Given the description of an element on the screen output the (x, y) to click on. 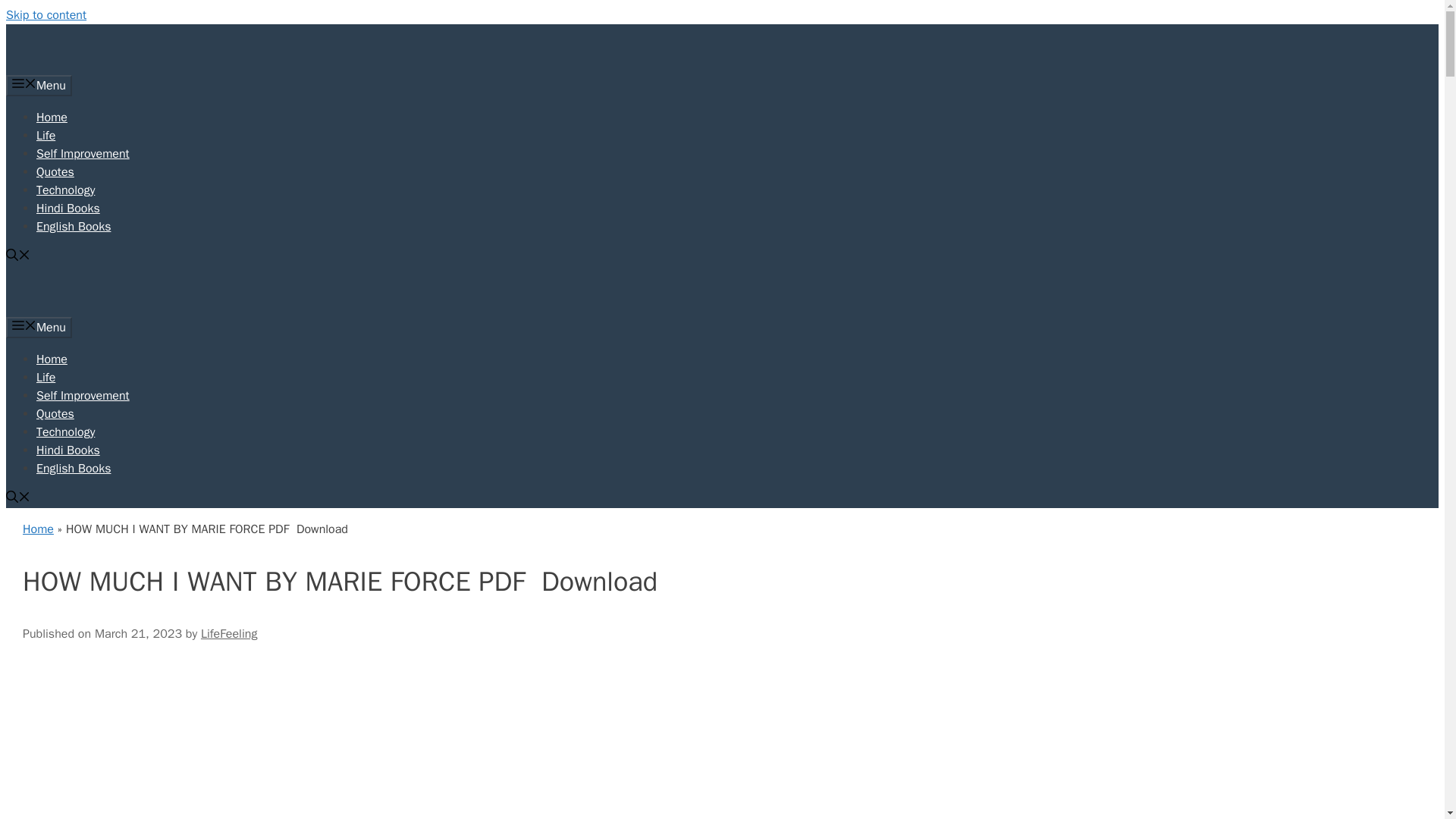
View all posts by LifeFeeling (228, 633)
Quotes (55, 171)
LifeFeeling (228, 633)
Life (45, 135)
English Books (73, 226)
Technology (65, 432)
Self Improvement (82, 395)
Menu (38, 85)
English Books (73, 468)
LifeFeeling (117, 307)
